Given the description of an element on the screen output the (x, y) to click on. 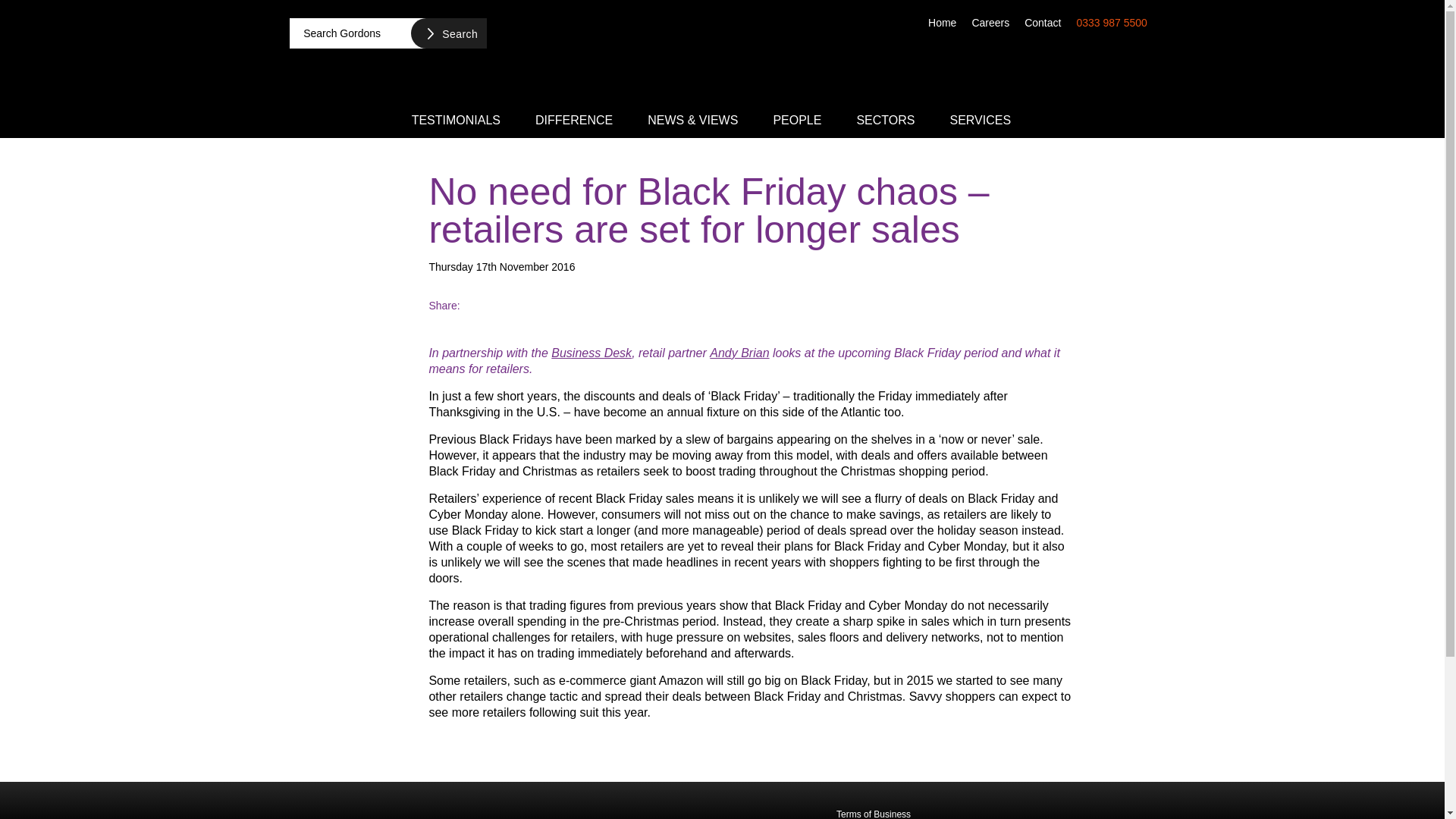
Gordons LLP (402, 811)
0333 987 5500 (1111, 21)
Contact (1042, 21)
TESTIMONIALS (456, 119)
Search (448, 33)
Search (448, 33)
Careers (989, 21)
Gordons LLP (721, 54)
Home (941, 21)
